Given the description of an element on the screen output the (x, y) to click on. 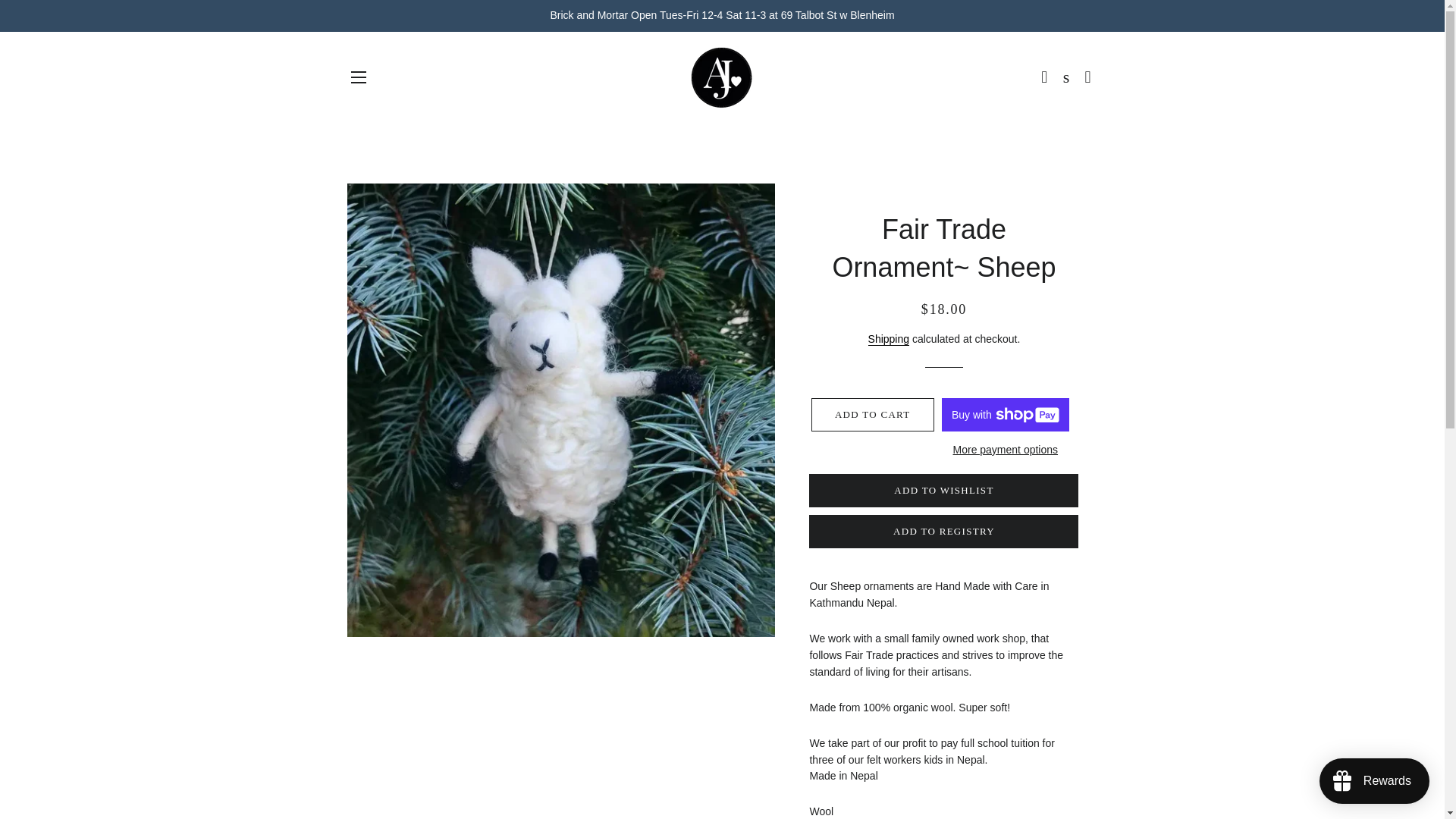
More payment options (1006, 450)
Shipping (888, 338)
Add to Registry (943, 531)
ADD TO CART (872, 414)
SITE NAVIGATION (358, 77)
Add to Wishlist (943, 490)
